Given the description of an element on the screen output the (x, y) to click on. 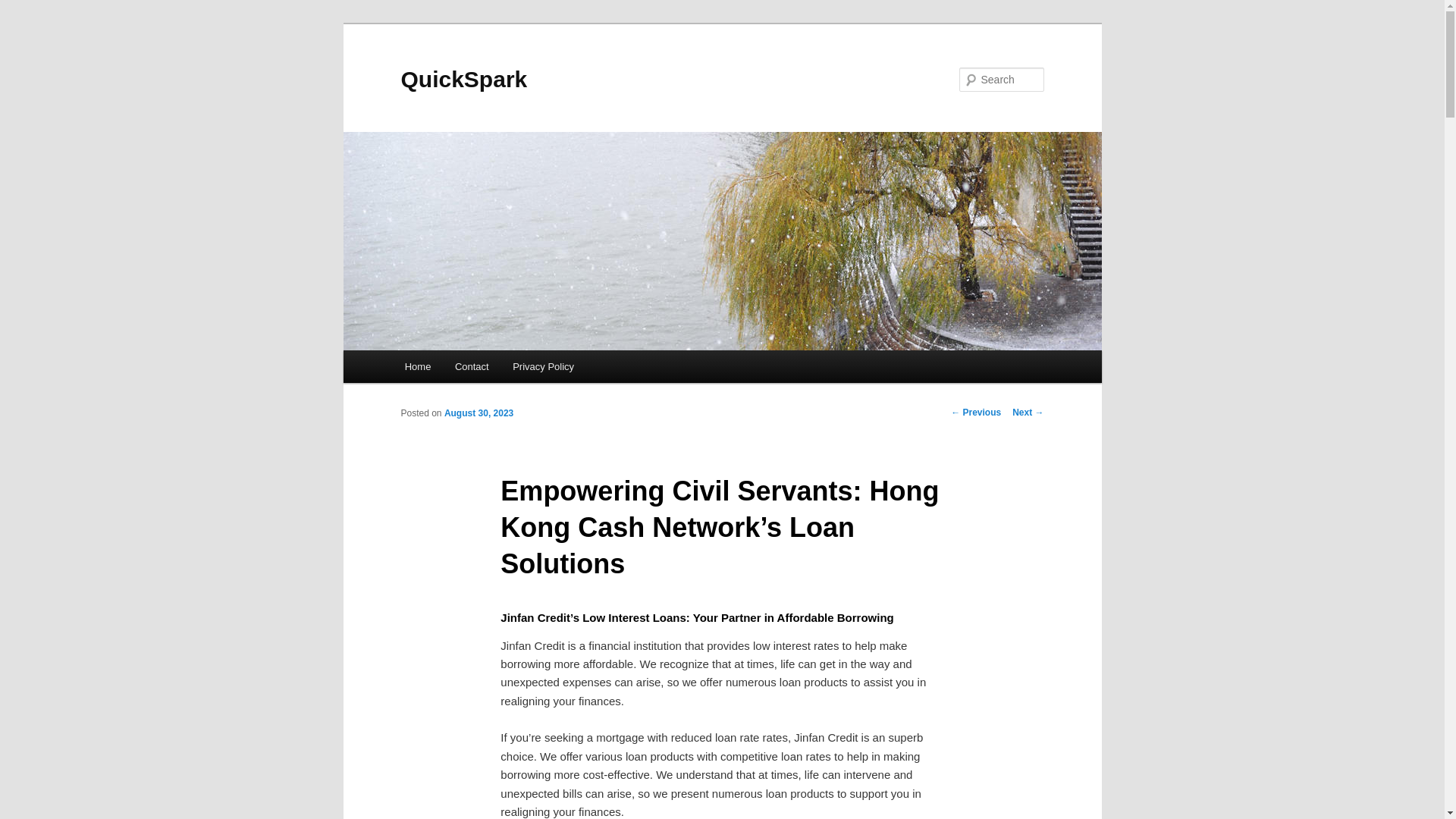
QuickSpark (463, 78)
Contact (471, 366)
Privacy Policy (542, 366)
August 30, 2023 (478, 412)
Home (417, 366)
Search (24, 8)
3:56 am (478, 412)
